Given the description of an element on the screen output the (x, y) to click on. 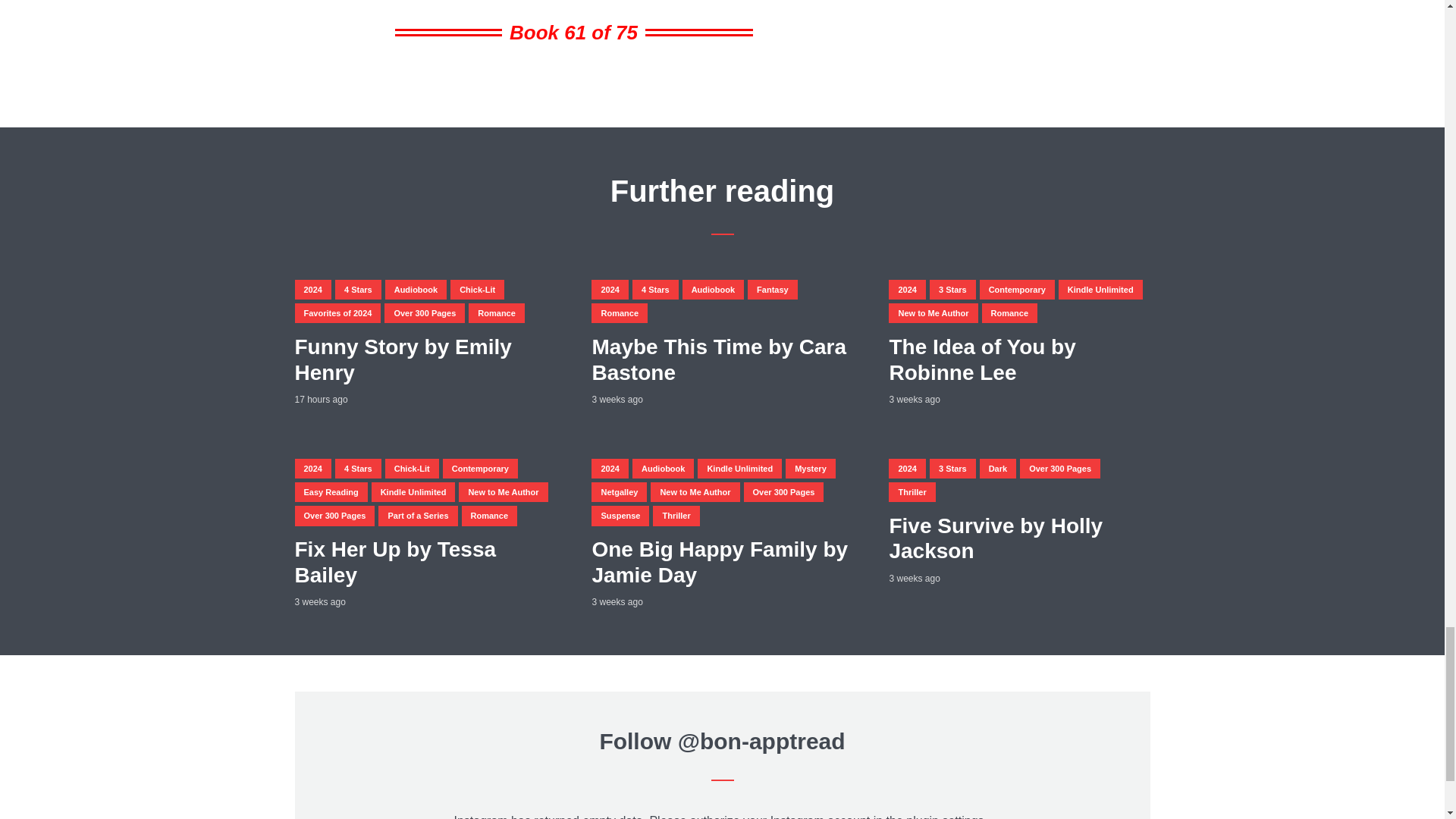
Audiobook (415, 289)
Chick-Lit (476, 289)
2024 (312, 289)
Audiobook (713, 289)
Romance (496, 312)
Fantasy (772, 289)
2024 (609, 289)
Favorites of 2024 (337, 312)
Over 300 Pages (424, 312)
4 Stars (654, 289)
